Given the description of an element on the screen output the (x, y) to click on. 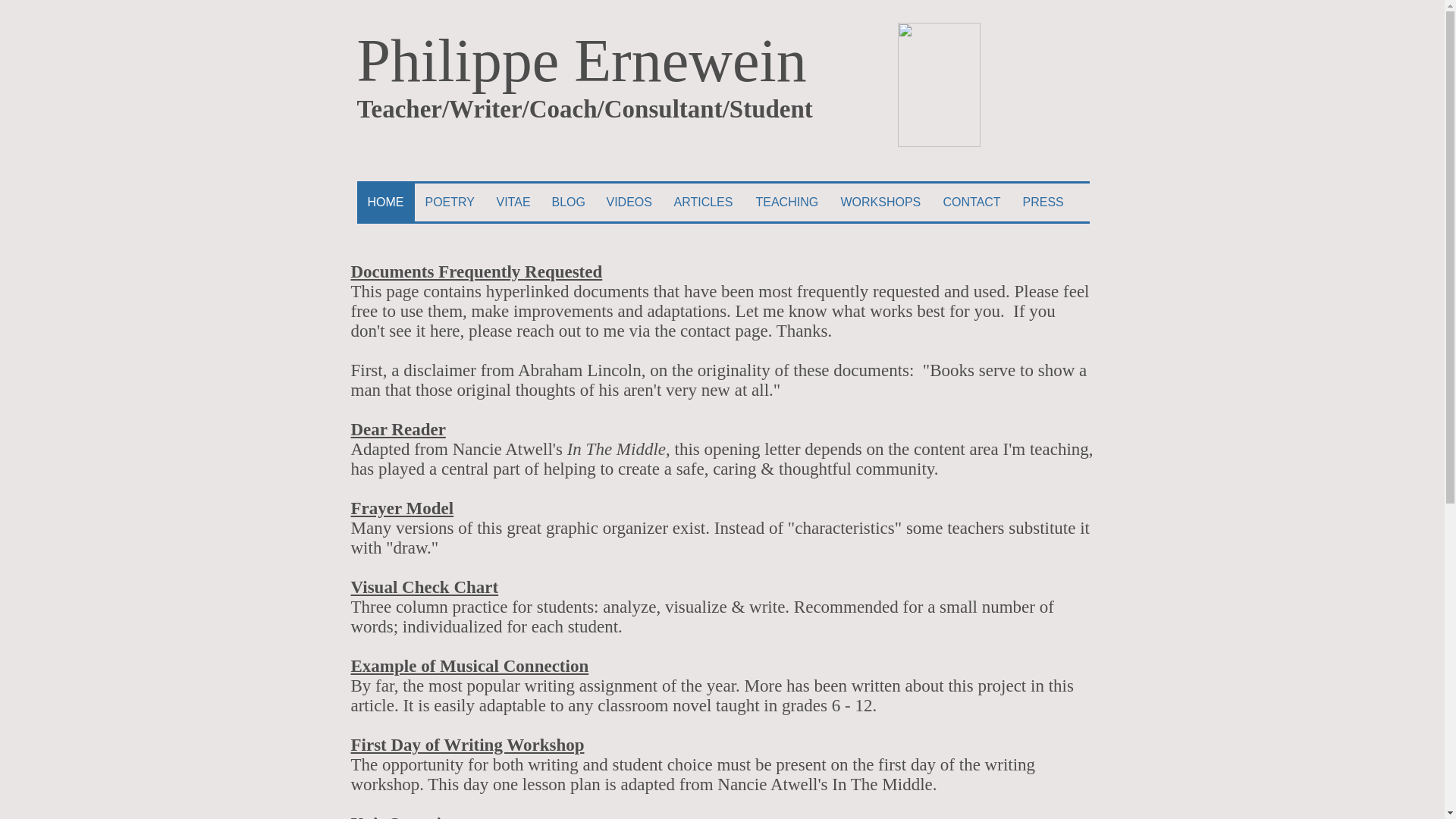
ARTICLES (703, 202)
BLOG (568, 202)
Philippe Ernewein (581, 60)
HOME (384, 202)
TEACHING (786, 202)
POETRY (448, 202)
VIDEOS (629, 202)
WORKSHOPS (880, 202)
VITAE (512, 202)
